Given the description of an element on the screen output the (x, y) to click on. 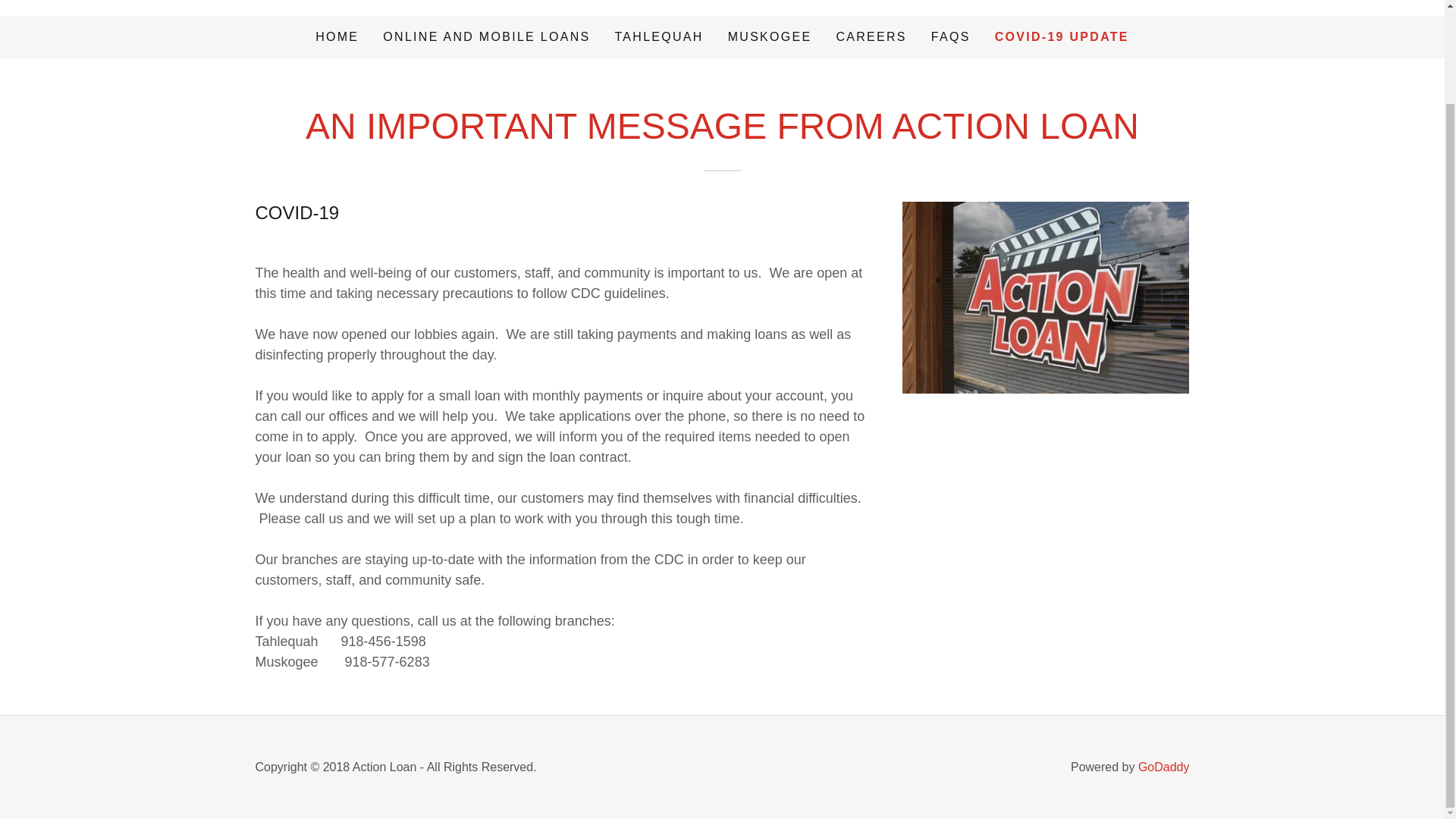
CAREERS (871, 36)
GoDaddy (1163, 766)
COVID-19 UPDATE (1061, 36)
FAQS (950, 36)
MUSKOGEE (769, 36)
TAHLEQUAH (658, 36)
ONLINE AND MOBILE LOANS (486, 36)
HOME (336, 36)
